Given the description of an element on the screen output the (x, y) to click on. 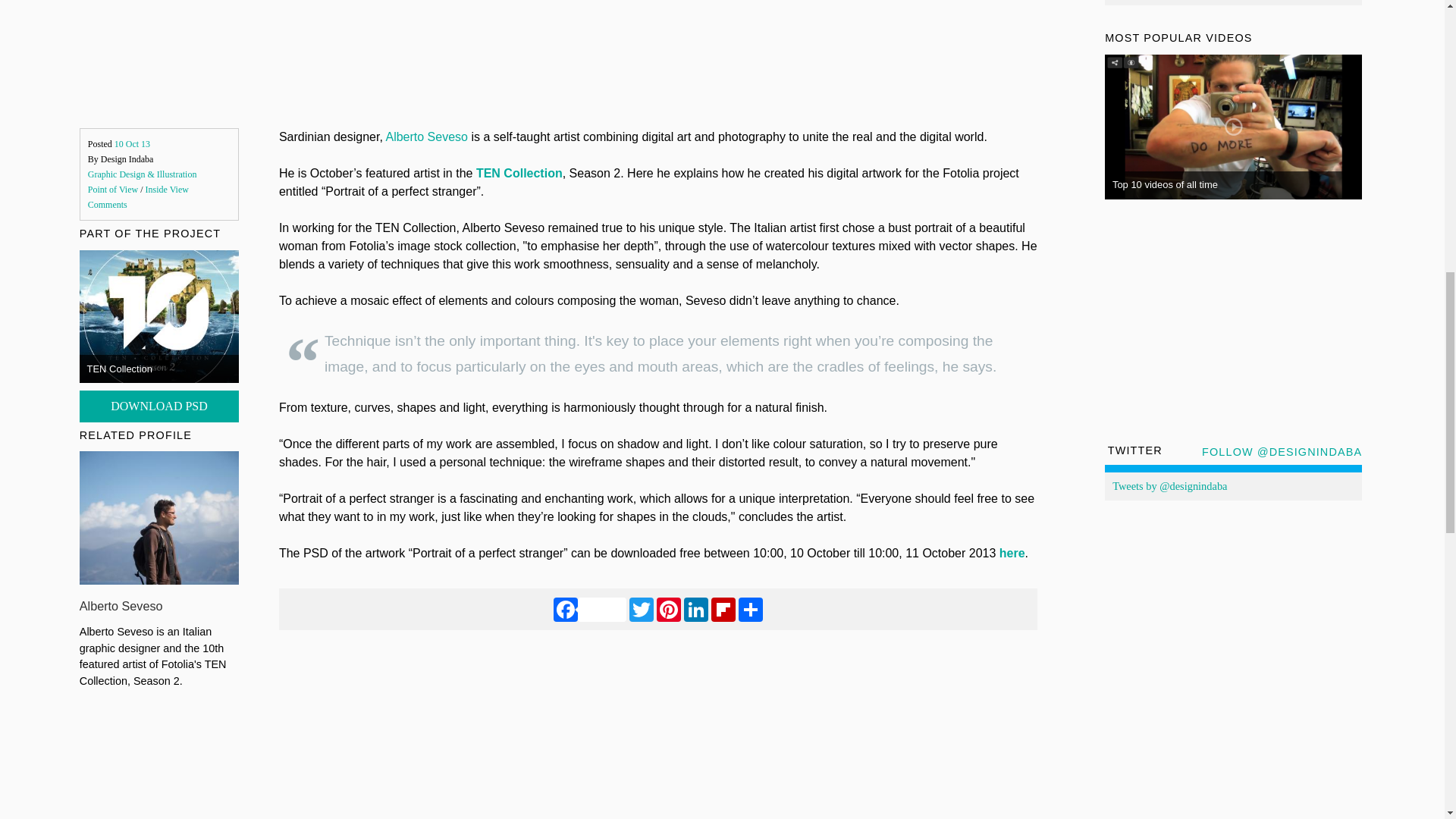
TEN Collection (519, 173)
DOWNLOAD PSD (160, 406)
Facebook (589, 609)
Alberto Seveso (121, 605)
TEN Collection (119, 368)
Alberto Seveso (426, 136)
Pinterest (668, 609)
Twitter (640, 609)
Inside View (167, 189)
Comments (107, 204)
Point of View (112, 189)
10 Oct 13 (132, 143)
here (1011, 553)
